Given the description of an element on the screen output the (x, y) to click on. 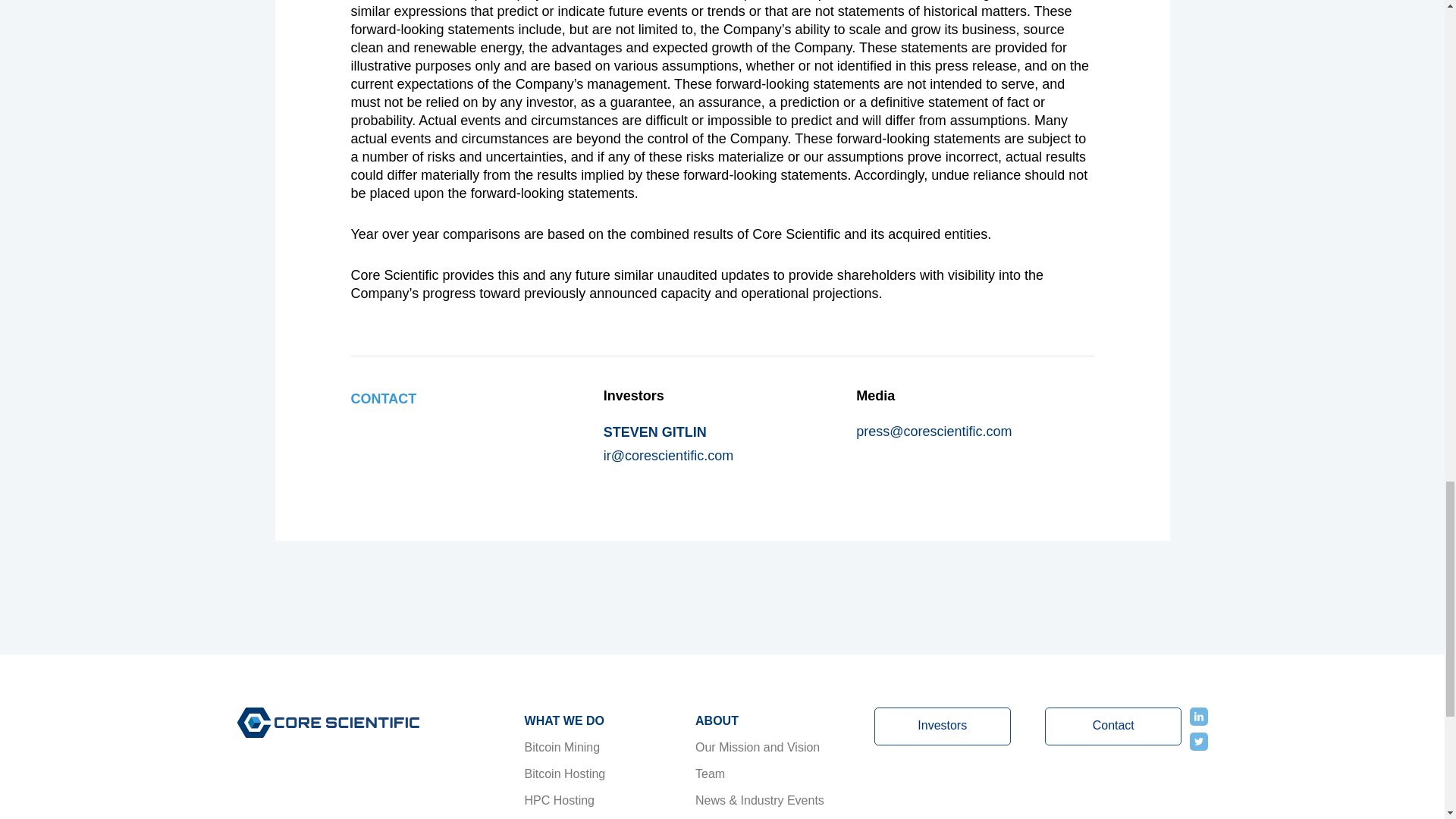
Bitcoin Mining (600, 746)
HPC Hosting (600, 800)
Infrastructure Footprint (771, 816)
Team (771, 773)
Contact (1112, 726)
Our Mission and Vision (771, 746)
Bitcoin Hosting (600, 773)
Investors (942, 726)
